Given the description of an element on the screen output the (x, y) to click on. 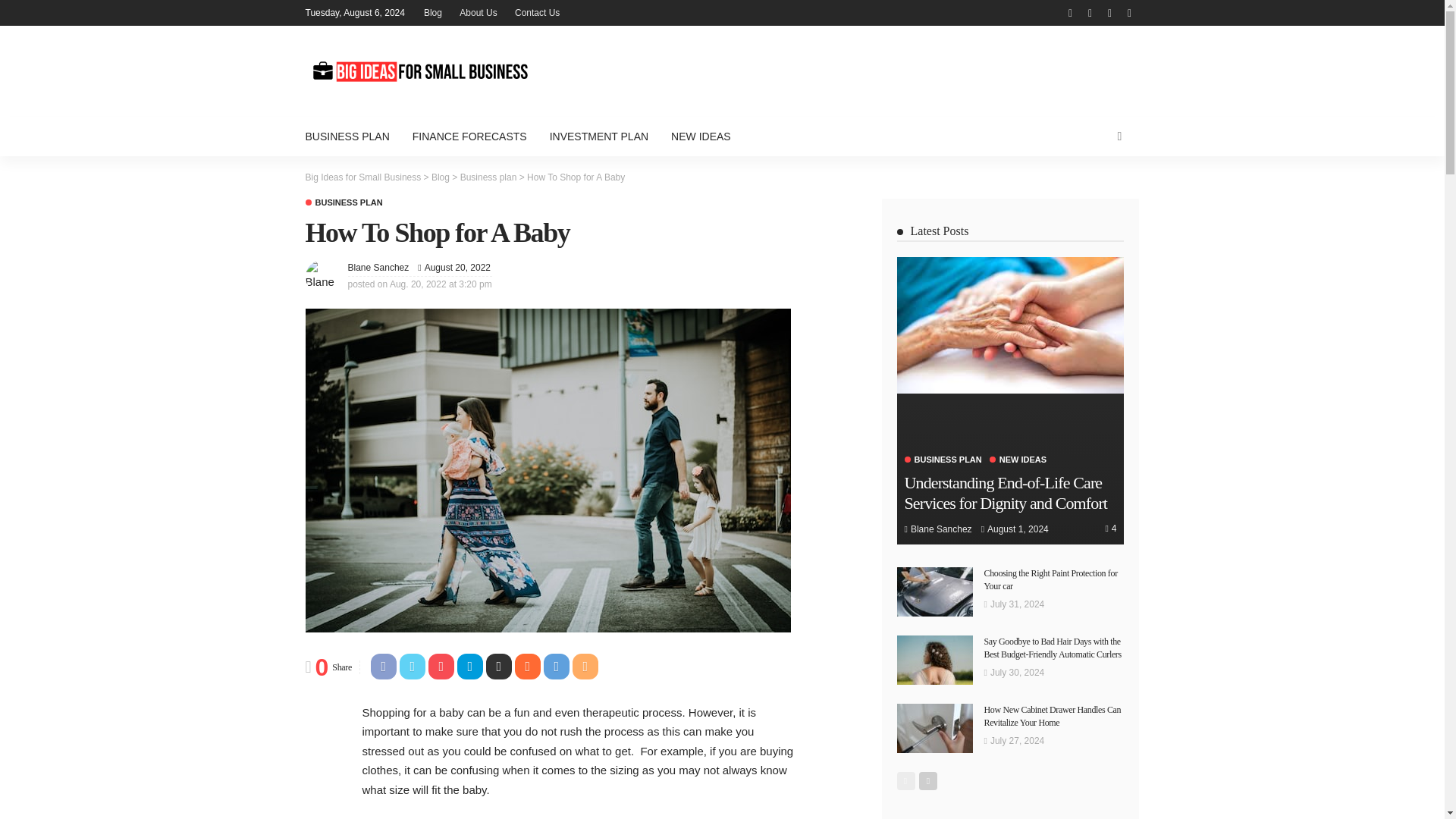
Go to the Business plan Category archives. (488, 176)
BUSINESS PLAN (342, 203)
Blog (432, 12)
Go to Big Ideas for Small Business. (362, 176)
Contact Us (536, 12)
Blog (439, 176)
BUSINESS PLAN (352, 136)
Business plan (488, 176)
Big Ideas for Small Business (362, 176)
Go to Blog. (439, 176)
INVESTMENT PLAN (598, 136)
NEW IDEAS (700, 136)
search (1118, 136)
Blane Sanchez (378, 267)
About Us (477, 12)
